Given the description of an element on the screen output the (x, y) to click on. 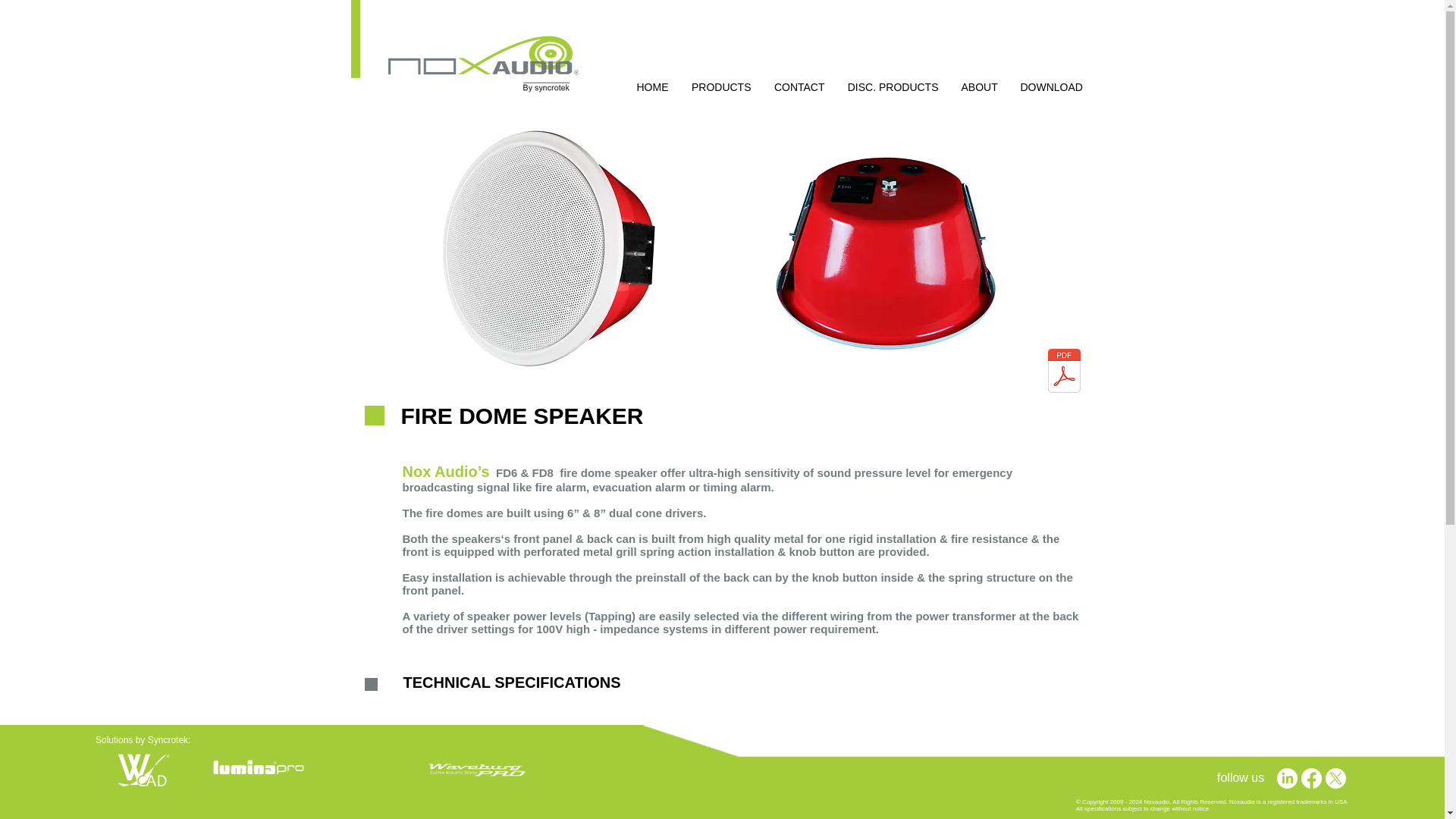
CONTACT (798, 86)
Noxaudio (464, 46)
DISC. PRODUCTS (892, 86)
HOME (651, 86)
FD-6 (884, 249)
ABOUT (979, 86)
DOWNLOAD (1051, 86)
FD-8 (549, 248)
PRODUCTS (720, 86)
